Given the description of an element on the screen output the (x, y) to click on. 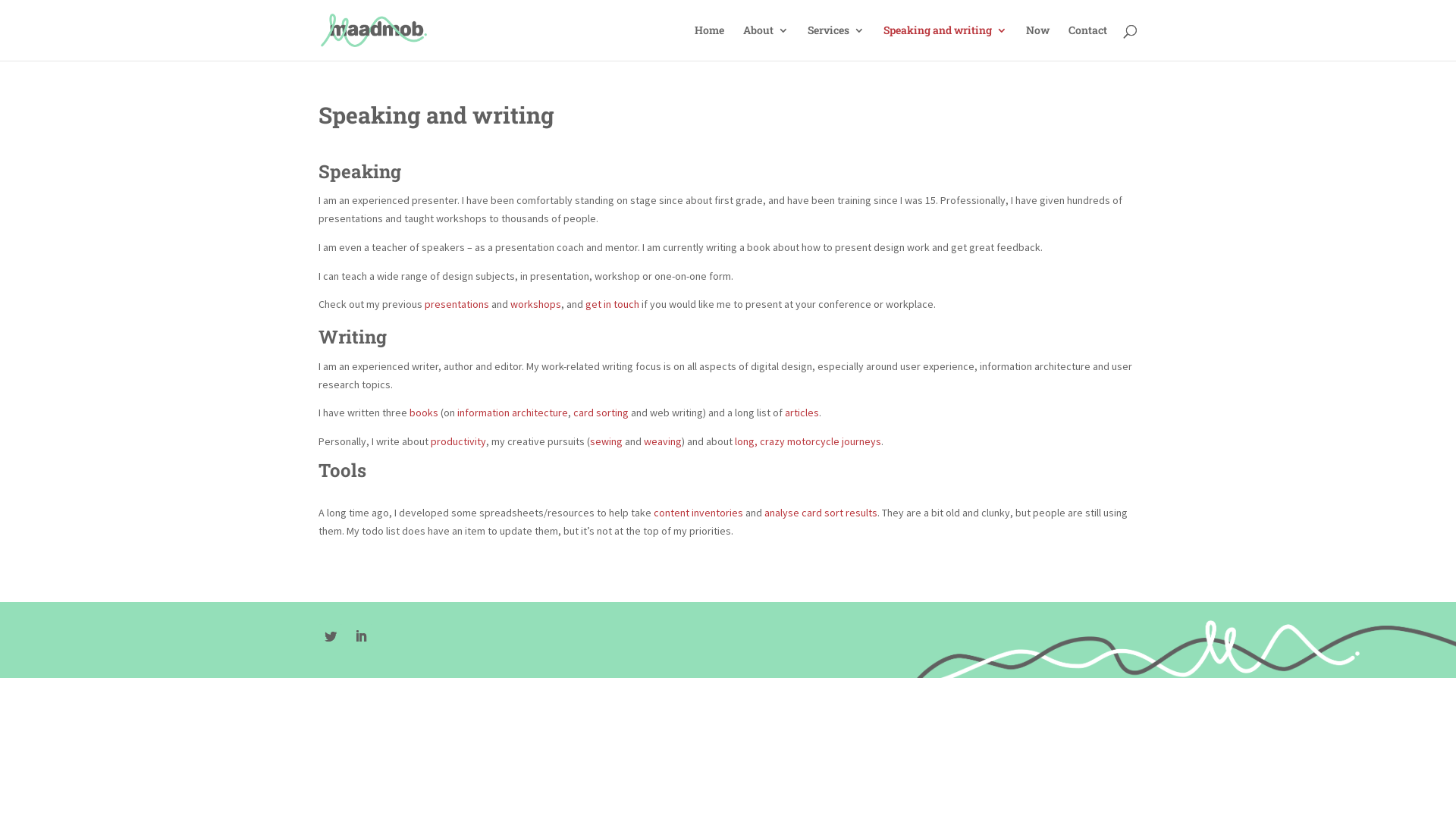
analyse card sort results Element type: text (820, 512)
About Element type: text (765, 42)
Contact Element type: text (1087, 42)
sewing Element type: text (605, 441)
card sorting Element type: text (600, 412)
Services Element type: text (835, 42)
content inventories Element type: text (698, 512)
Home Element type: text (709, 42)
information architecture Element type: text (512, 412)
Speaking and writing Element type: text (945, 42)
presentations Element type: text (457, 303)
Follow on Twitter Element type: hover (330, 636)
productivity Element type: text (458, 441)
long, crazy motorcycle journeys Element type: text (807, 441)
workshops Element type: text (535, 303)
weaving Element type: text (662, 441)
Follow on LinkedIn Element type: hover (360, 636)
get in touch Element type: text (612, 303)
books Element type: text (423, 412)
Now Element type: text (1037, 42)
articles Element type: text (801, 412)
